Given the description of an element on the screen output the (x, y) to click on. 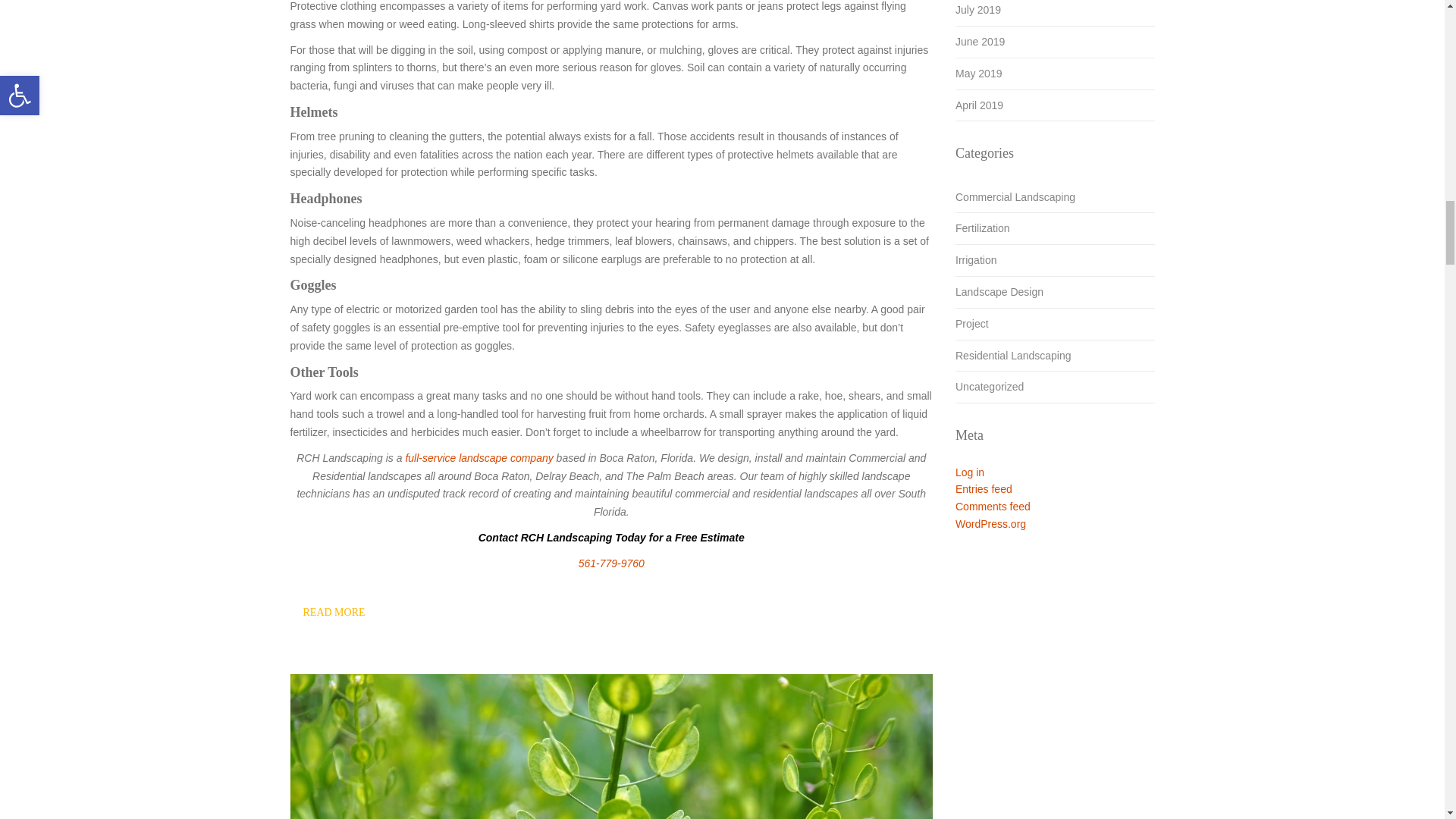
South Florida Landscape Design (999, 291)
full-service landscape company (478, 458)
READ MORE (333, 612)
Commercial Landscaping Boca Raton, Palm Beach, South Florida (1015, 196)
561-779-9760 (611, 563)
